Given the description of an element on the screen output the (x, y) to click on. 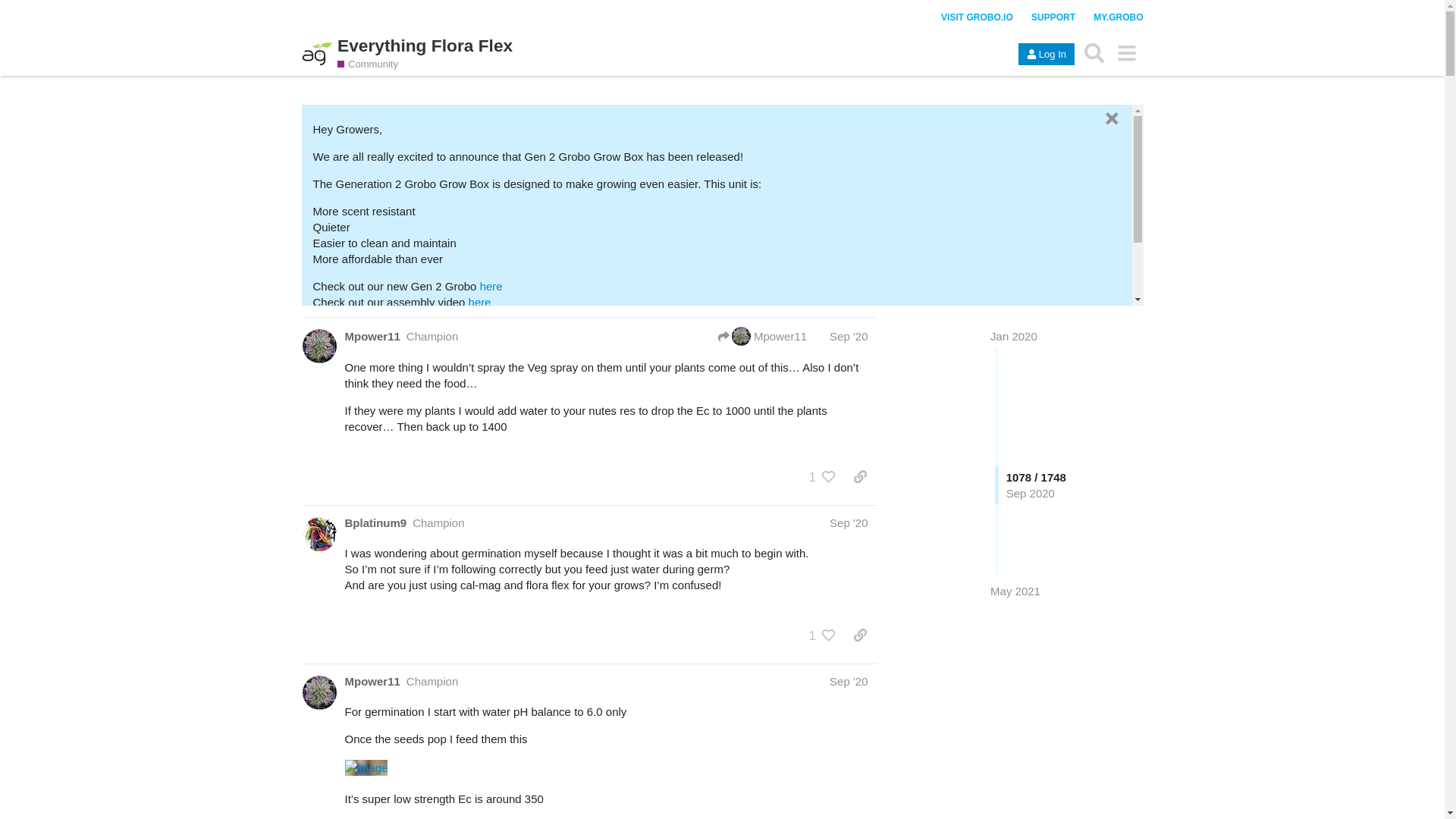
Jan 2020 (1013, 336)
Community (367, 64)
Dismiss this banner. (1110, 118)
May 2021 (1015, 590)
May 2021 (1015, 590)
Log In (1045, 54)
Everything Flora Flex (424, 46)
1 (807, 476)
Share your stories and chat with other growers. (372, 64)
Mpower11 (741, 335)
like this post (829, 476)
Sep '20 (848, 336)
1 person liked this post (807, 476)
Jan 2020 (1013, 336)
Mpower11 (370, 335)
